Given the description of an element on the screen output the (x, y) to click on. 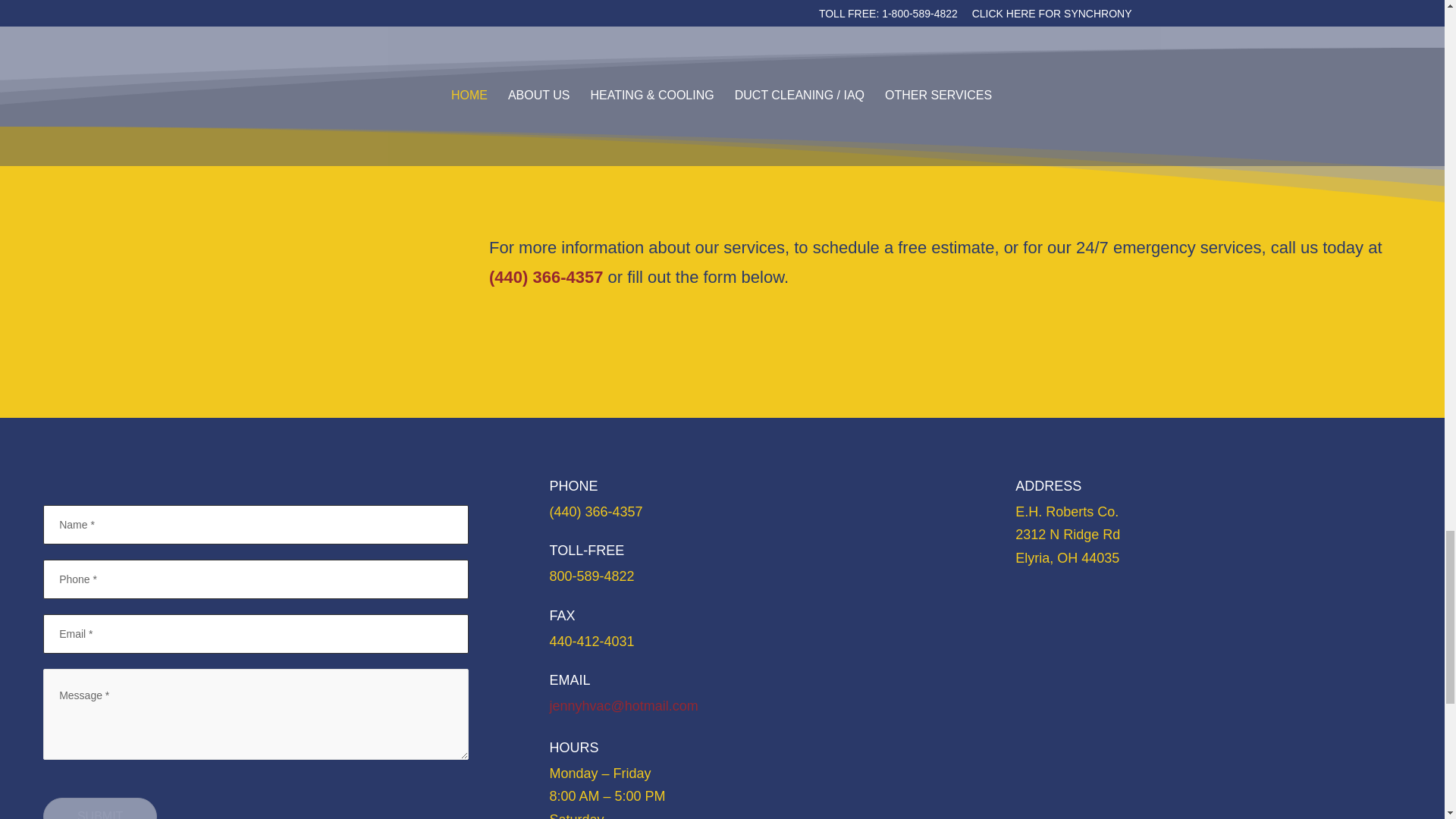
SUBMIT (100, 808)
EMAIL (568, 679)
PHONE (572, 485)
800-589-4822 (590, 575)
TOLL-FREE (586, 549)
